Given the description of an element on the screen output the (x, y) to click on. 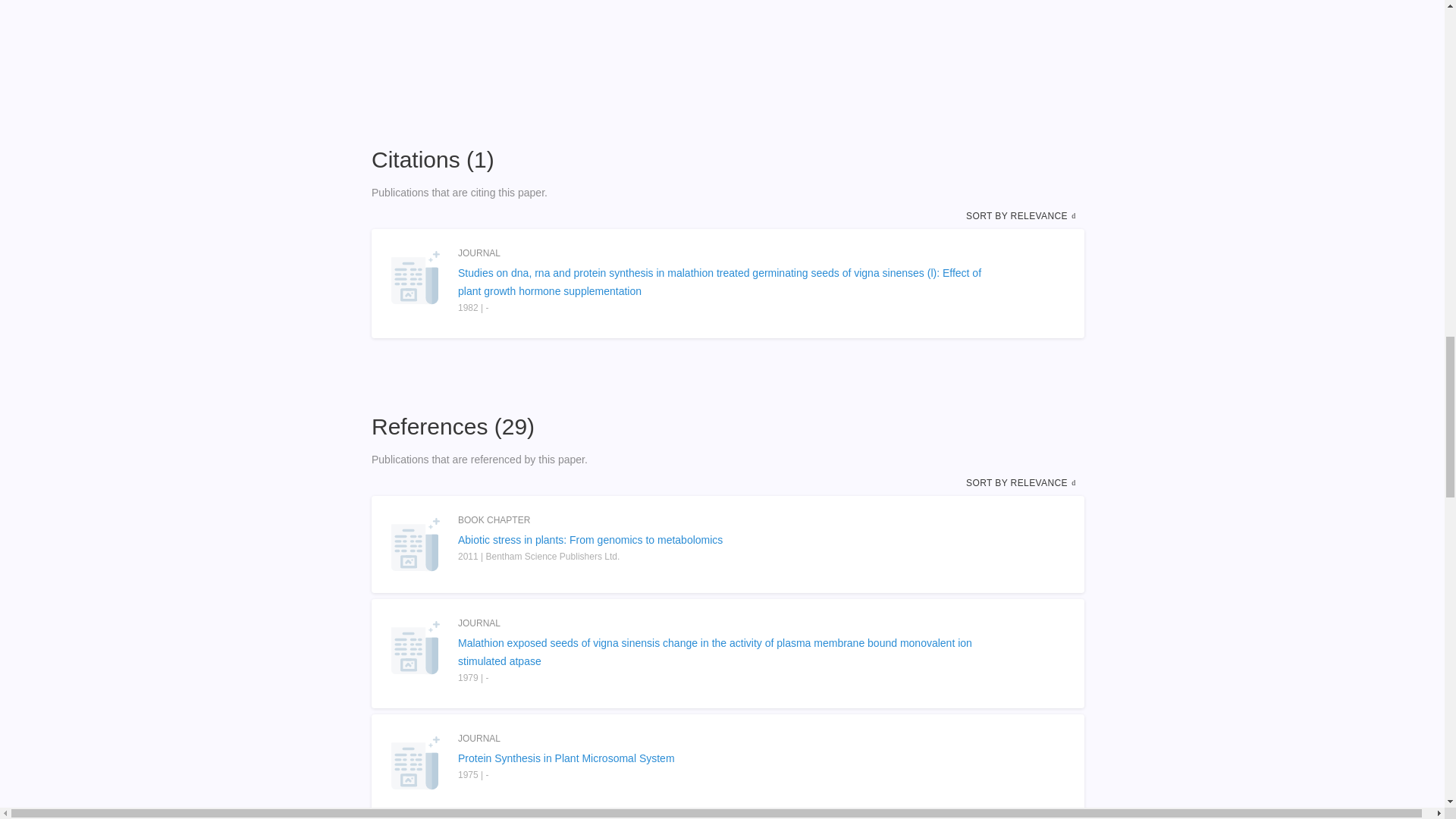
Abiotic stress in plants: From genomics to metabolomics (727, 539)
Protein Synthesis in Plant Microsomal System (727, 758)
SORT BY RELEVANCE (1022, 215)
SORT BY RELEVANCE (1022, 482)
